Given the description of an element on the screen output the (x, y) to click on. 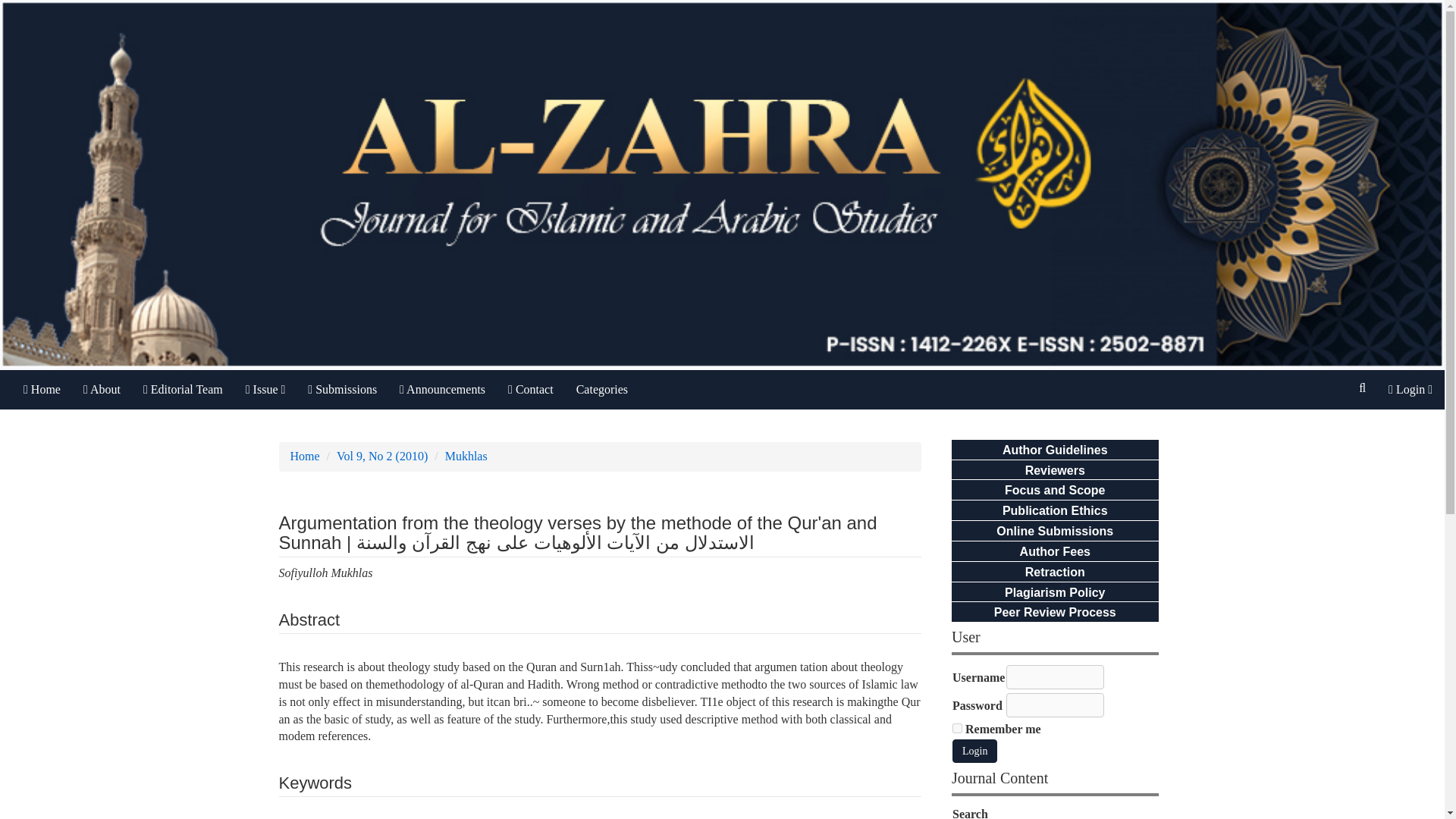
Issue (265, 389)
Login (974, 750)
Home (41, 389)
About (101, 389)
Retraction (1054, 571)
Submissions (342, 389)
Focus and Scope (1054, 490)
Author Guidelines (1055, 449)
1 (957, 728)
Login (1410, 389)
